Given the description of an element on the screen output the (x, y) to click on. 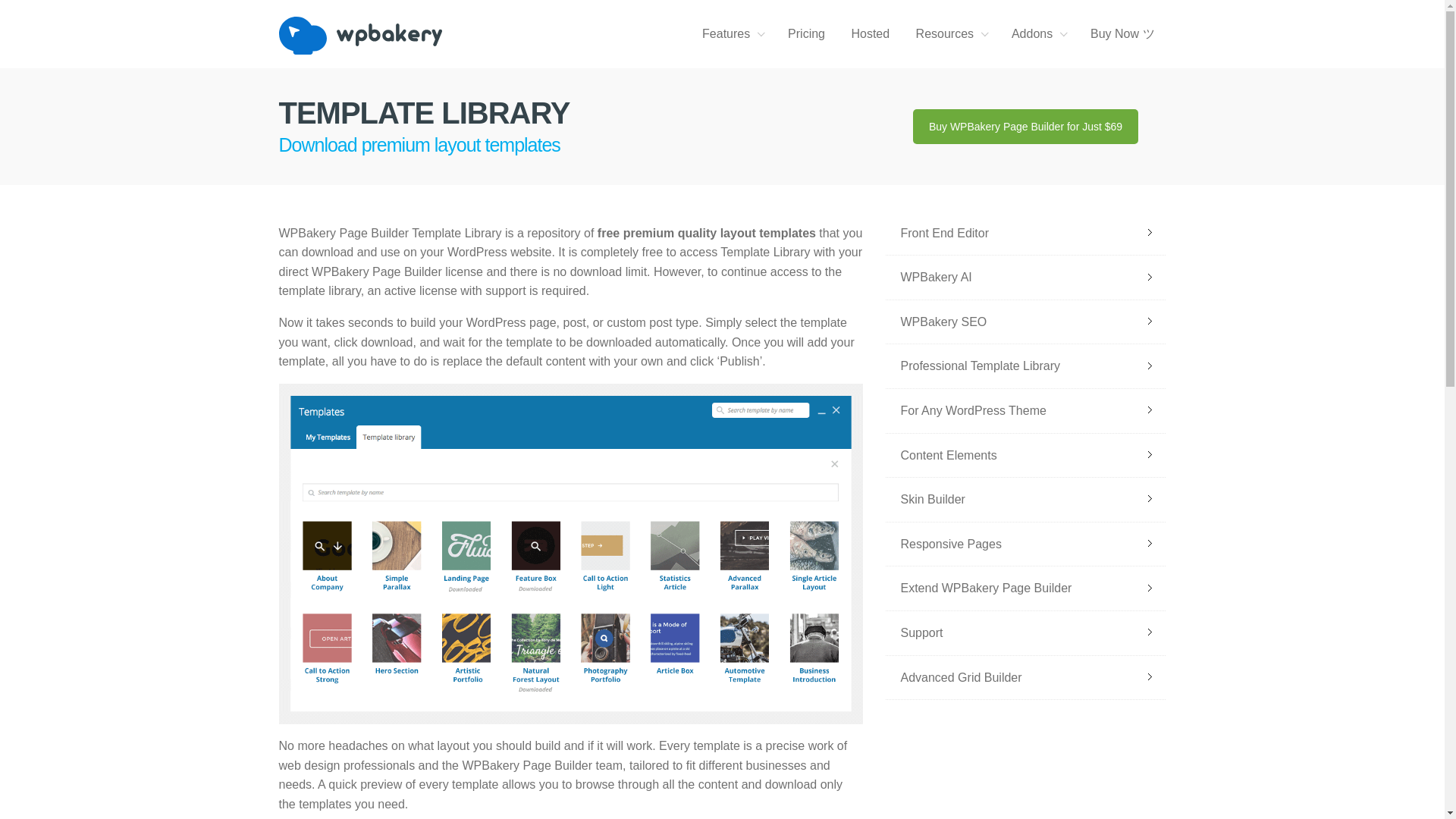
Features (731, 34)
WPBakery AI (1025, 277)
Front End Editor (1025, 233)
Addons (1037, 34)
For Any WordPress Theme (1025, 411)
Content Elements (1025, 456)
WPBakery Page Builder (385, 35)
Hosted (870, 34)
Resources (950, 34)
Pricing (805, 34)
